Given the description of an element on the screen output the (x, y) to click on. 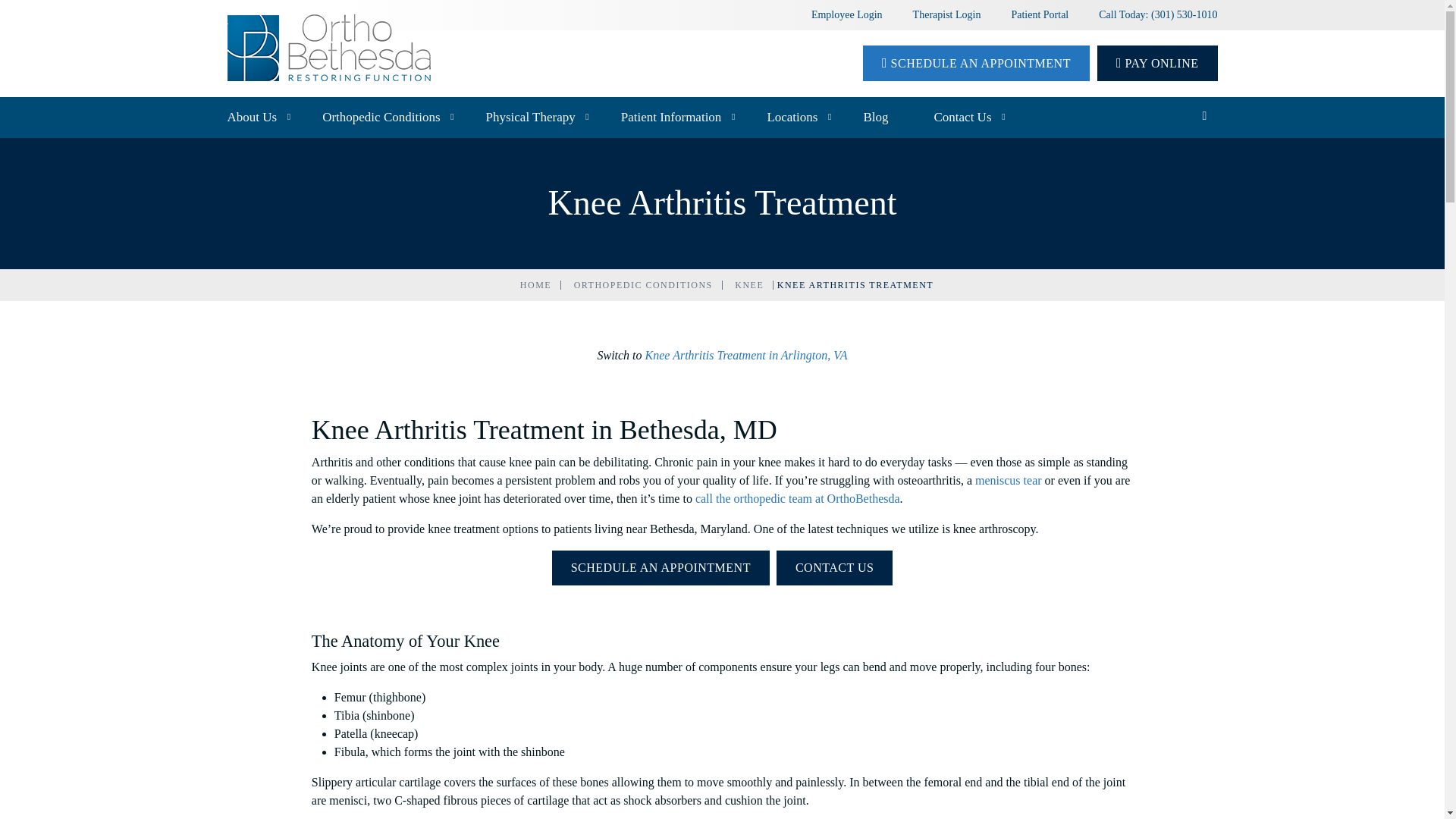
Employee Login (846, 14)
Patient Portal (1039, 14)
Therapist Login (946, 14)
